Given the description of an element on the screen output the (x, y) to click on. 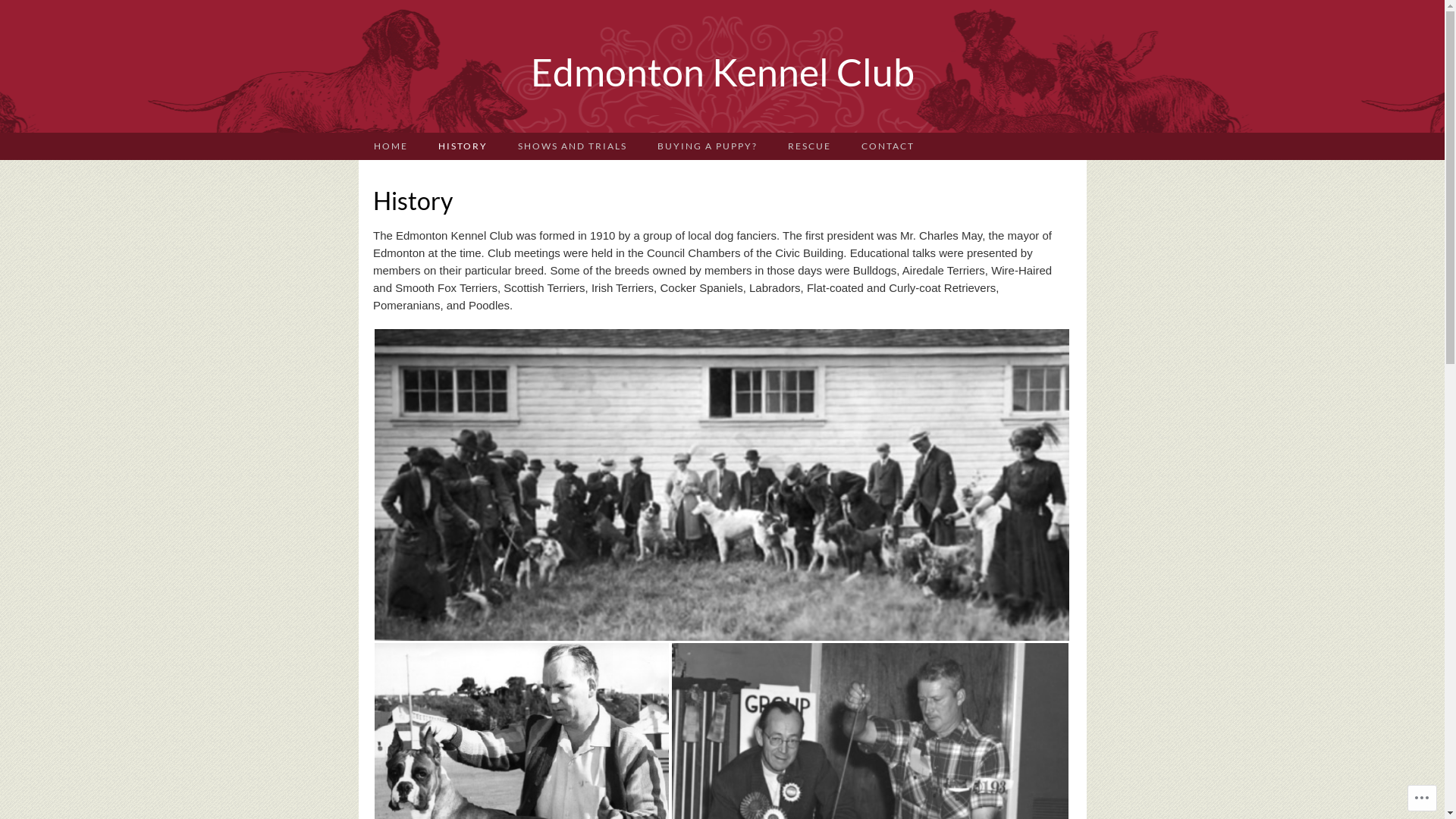
SHOWS AND TRIALS Element type: text (571, 146)
CONTACT Element type: text (887, 146)
1911 show Element type: hover (721, 484)
BUYING A PUPPY? Element type: text (706, 146)
RESCUE Element type: text (808, 146)
HISTORY Element type: text (462, 146)
Edmonton Kennel Club Element type: text (721, 66)
HOME Element type: text (389, 146)
